Given the description of an element on the screen output the (x, y) to click on. 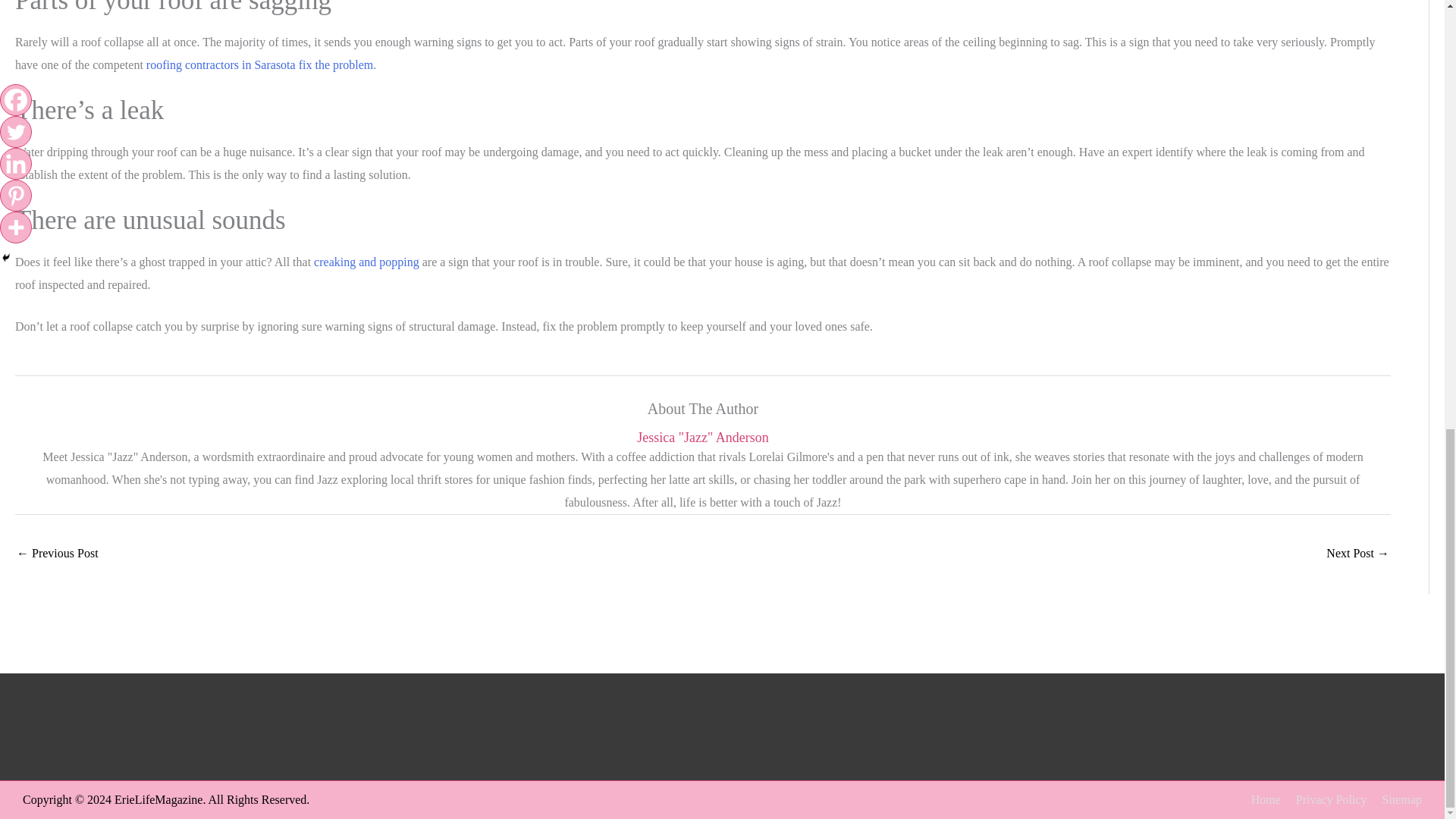
Lifehacker (366, 261)
4 Tips on Making Your Dinner Party Fun and Memorable (1357, 554)
Sonshine Roofing (259, 64)
roofing contractors in Sarasota fix the problem (259, 64)
Privacy Policy (1325, 799)
creaking and popping (366, 261)
Sitemap (1396, 799)
Jessica "Jazz" Anderson (702, 437)
Home (1260, 799)
A Guide to Becoming a Legal Nurse Consultant (57, 554)
